Given the description of an element on the screen output the (x, y) to click on. 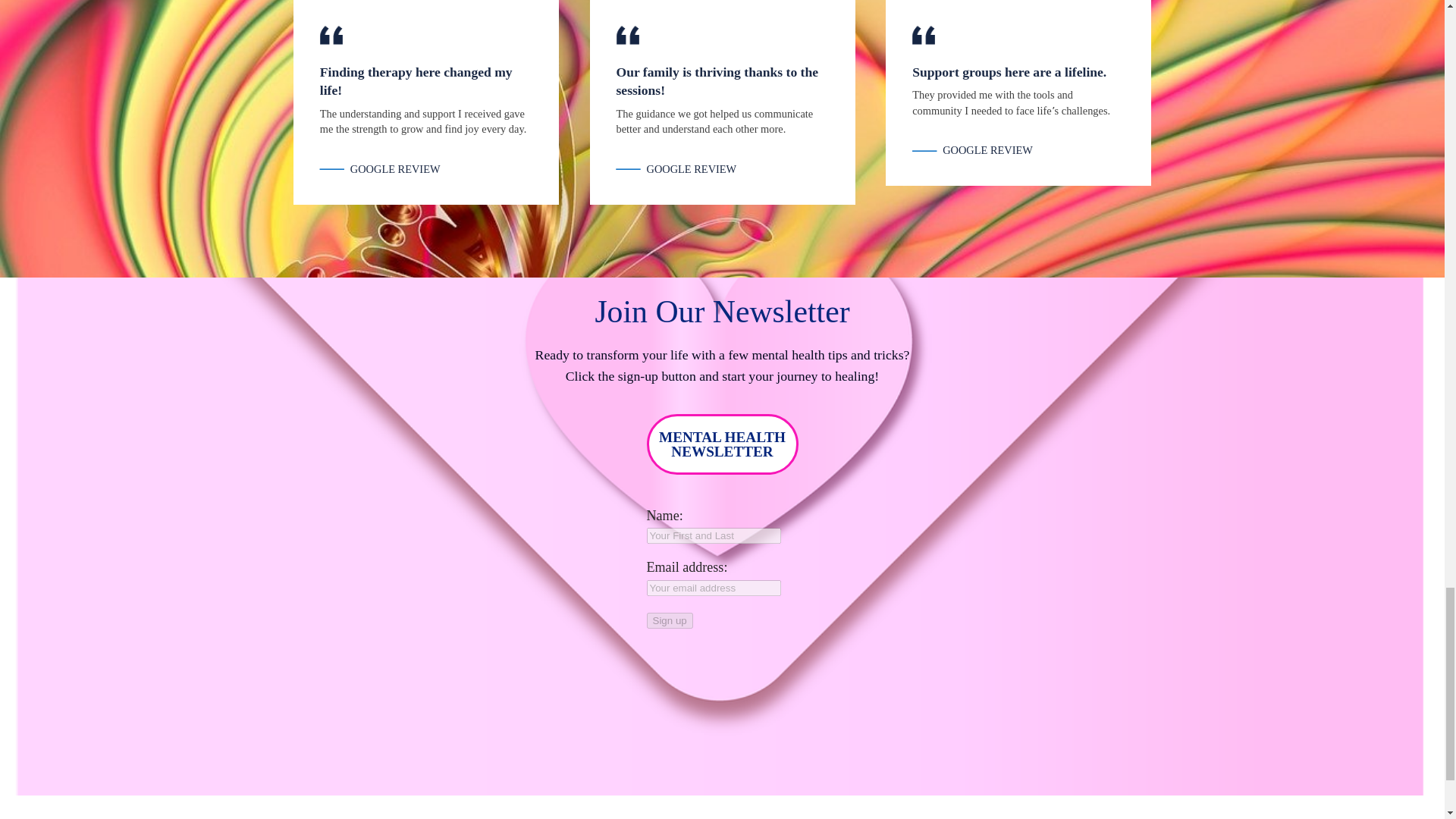
MENTAL HEALTH NEWSLETTER (721, 444)
Sign up (669, 620)
Sign up (669, 620)
